Given the description of an element on the screen output the (x, y) to click on. 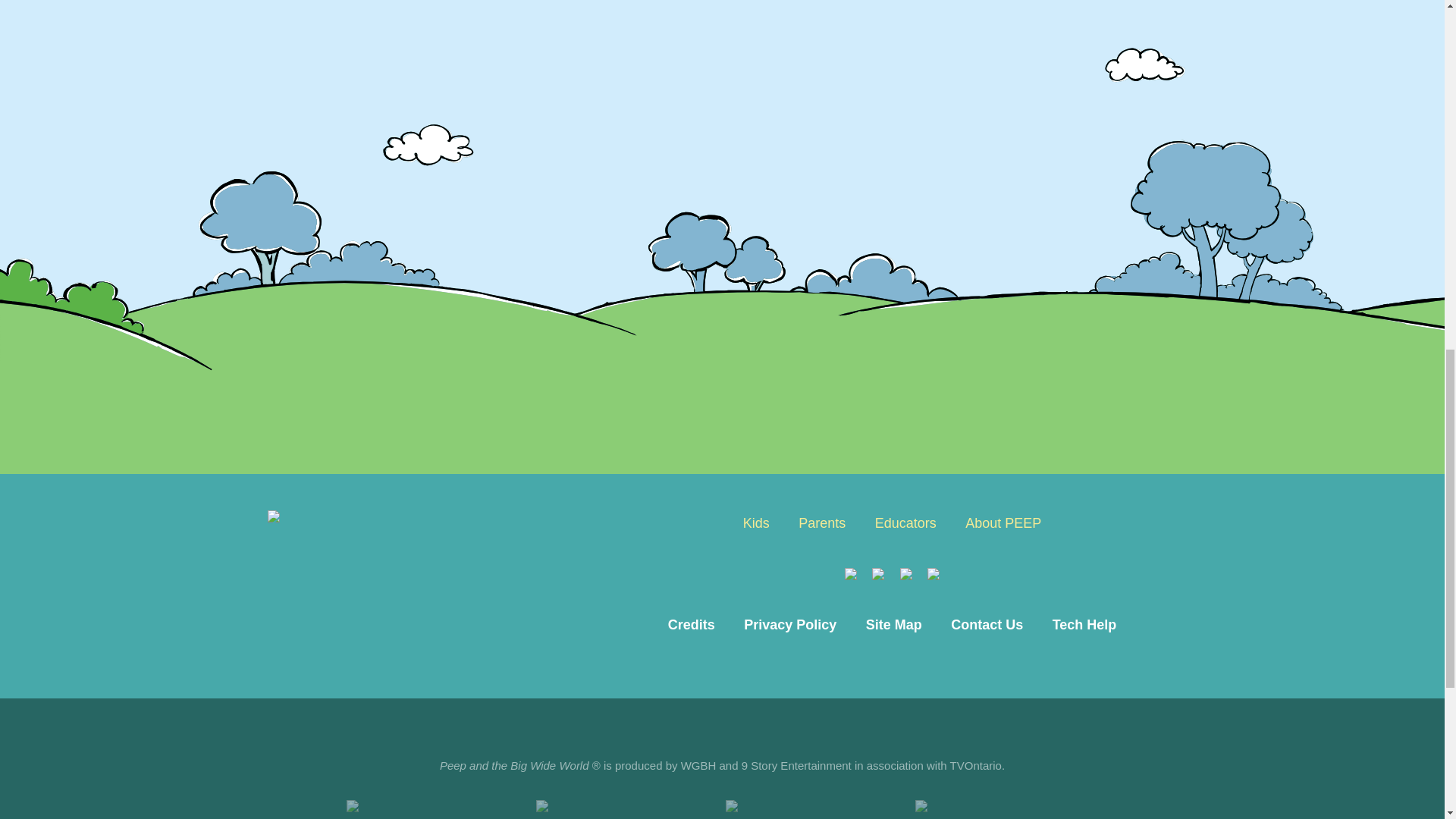
Visit American Public Television web site (1005, 806)
Contact Us (986, 624)
Visit TVOntario web site (816, 806)
Visit 9Story web site (627, 806)
Site Map (893, 624)
Visit WGBH  web site (437, 806)
Privacy Policy (789, 624)
Parents (821, 522)
Kids (756, 522)
Credits (691, 624)
